Given the description of an element on the screen output the (x, y) to click on. 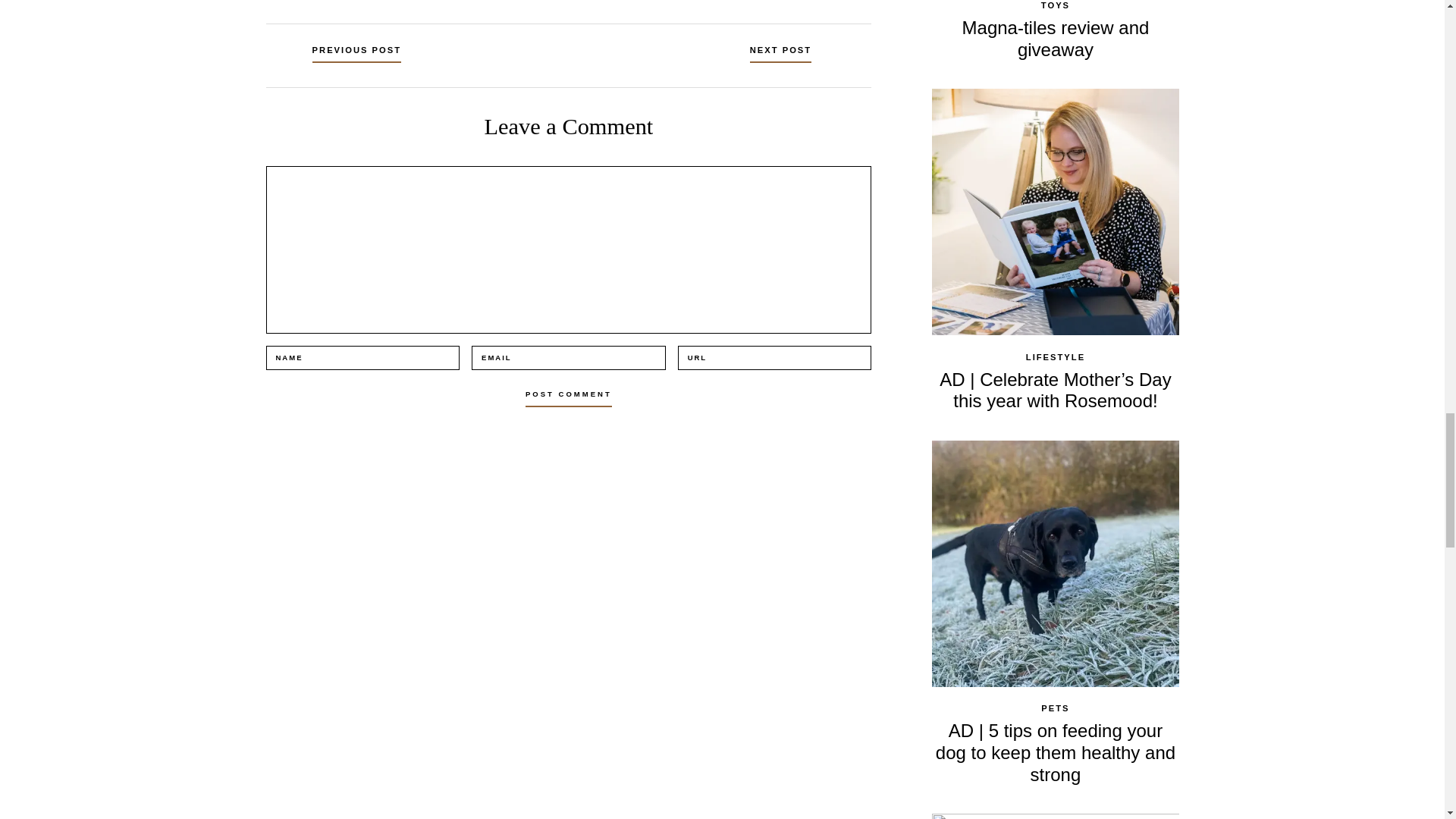
Post Comment (568, 394)
